Given the description of an element on the screen output the (x, y) to click on. 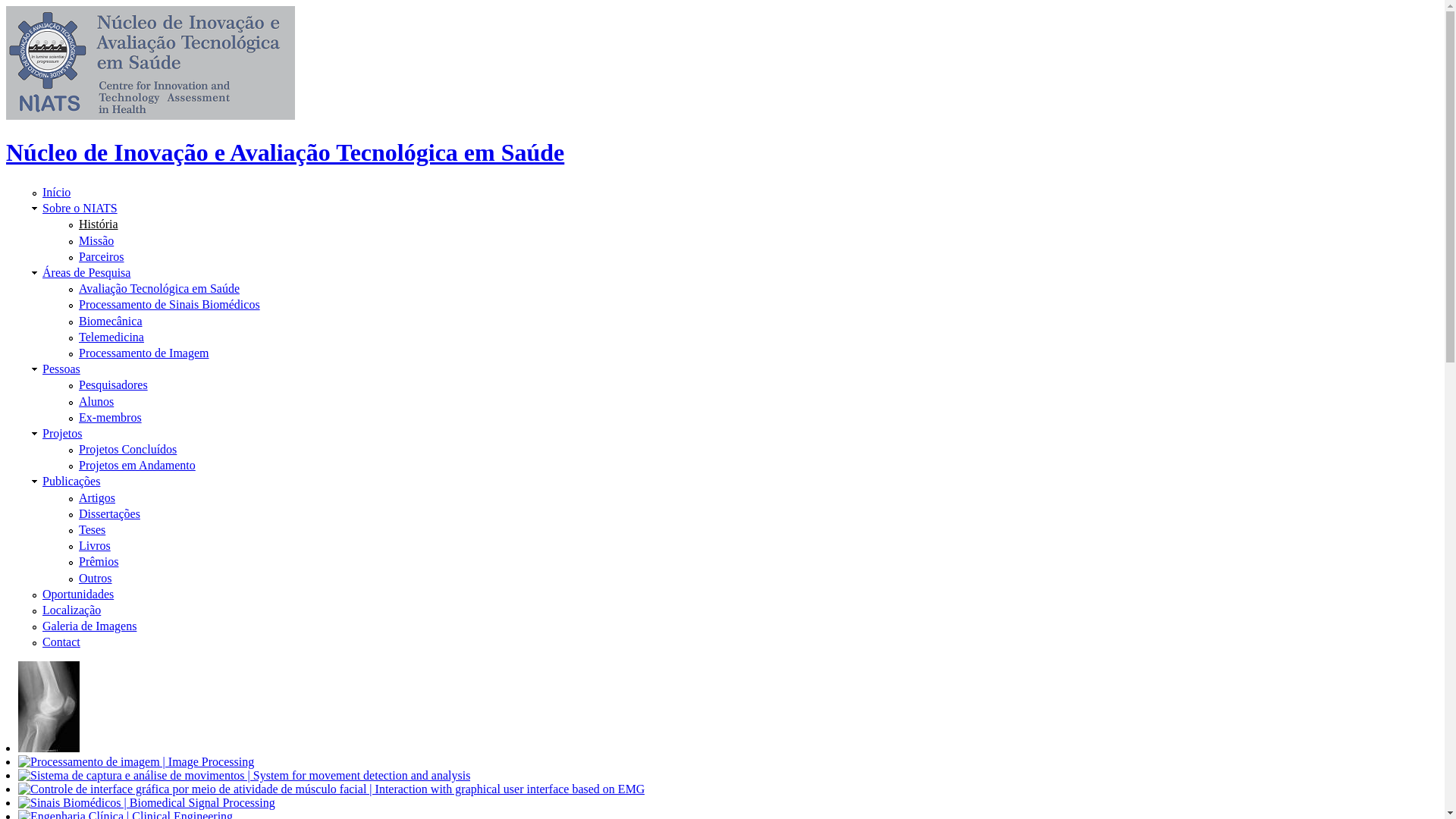
Galeria de Imagens Element type: text (89, 625)
Telemedicina Element type: text (111, 336)
Processamento de imagem | Image Processing Element type: hover (136, 761)
Pesquisadores Element type: text (112, 384)
Livros Element type: text (94, 545)
Teses Element type: text (91, 529)
Processamento de Imagem Element type: text (143, 352)
Contact Element type: text (61, 641)
Sobre o NIATS Element type: text (79, 207)
Projetos em Andamento Element type: text (136, 464)
Alunos Element type: text (95, 400)
Pessoas Element type: text (61, 368)
Oportunidades Element type: text (77, 593)
Projetos Element type: text (61, 432)
Outros Element type: text (95, 577)
Ex-membros Element type: text (109, 417)
Parceiros Element type: text (101, 256)
Artigos Element type: text (96, 497)
Processamento de imagem | Image Processing Element type: hover (48, 706)
